Given the description of an element on the screen output the (x, y) to click on. 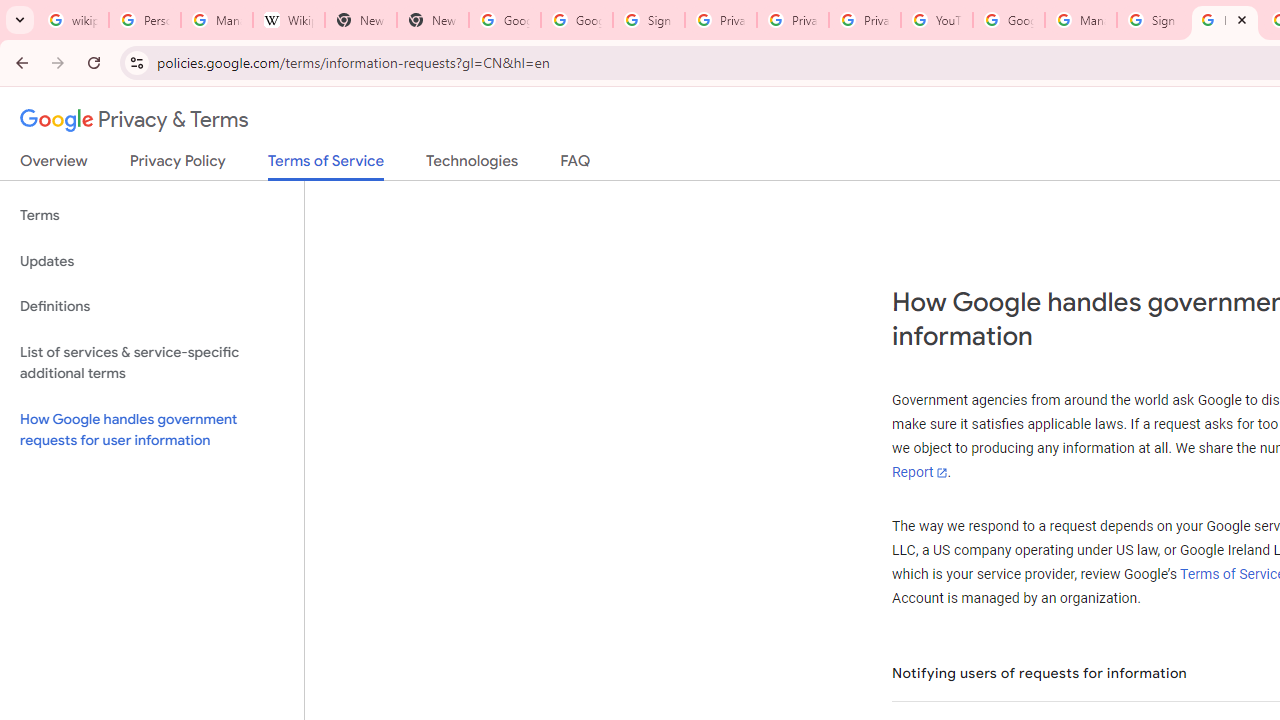
New Tab (432, 20)
New Tab (360, 20)
Wikipedia:Edit requests - Wikipedia (289, 20)
Google Account Help (1008, 20)
